Given the description of an element on the screen output the (x, y) to click on. 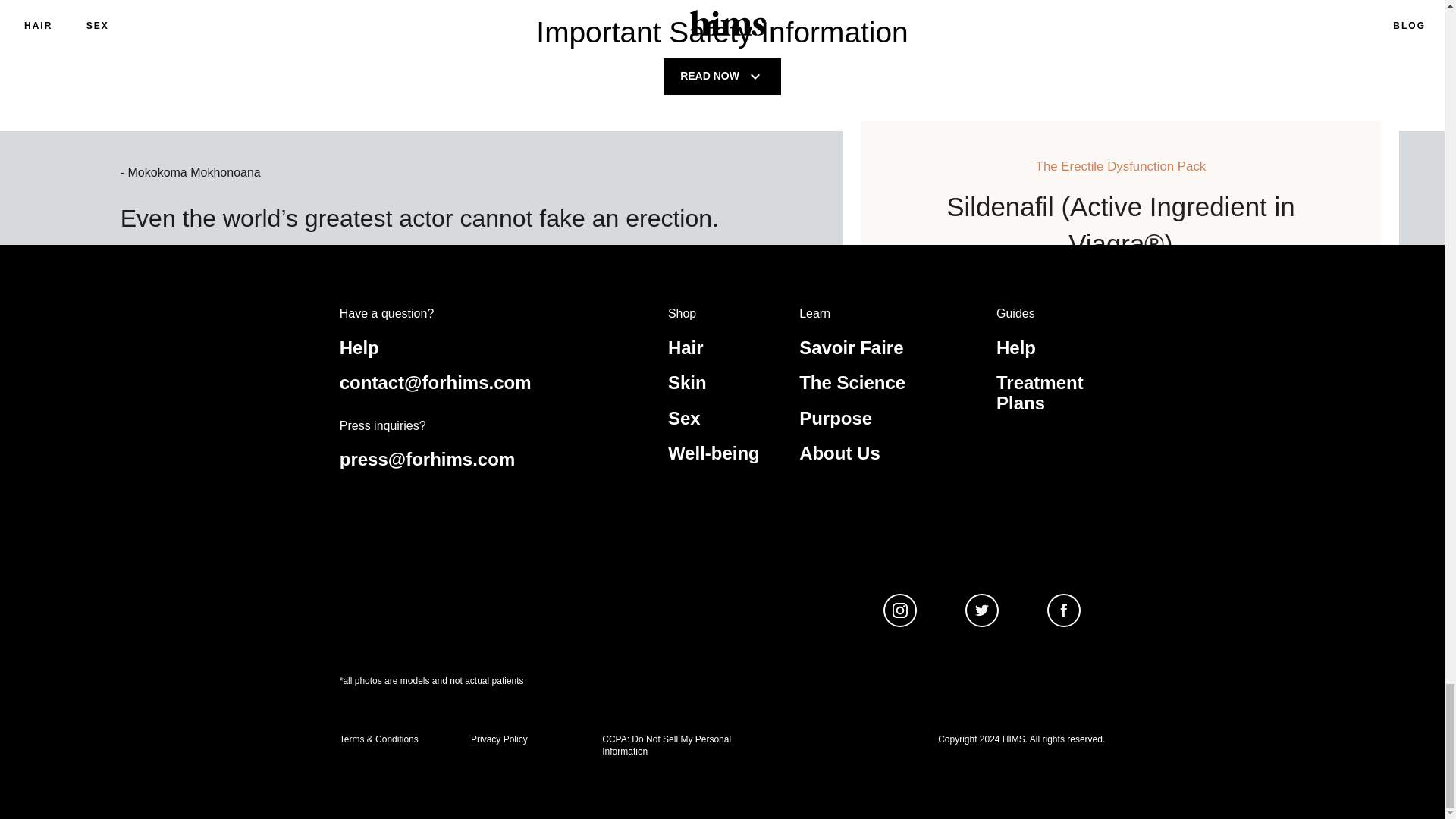
About Us (839, 453)
Sex (684, 417)
Skin (687, 382)
Help (358, 347)
Well-being (714, 453)
Help (1015, 347)
Savoir Faire (850, 347)
READ NOW (721, 76)
Hair (685, 347)
Purpose (835, 417)
Treatment Plans (1039, 392)
The Science (852, 382)
